Given the description of an element on the screen output the (x, y) to click on. 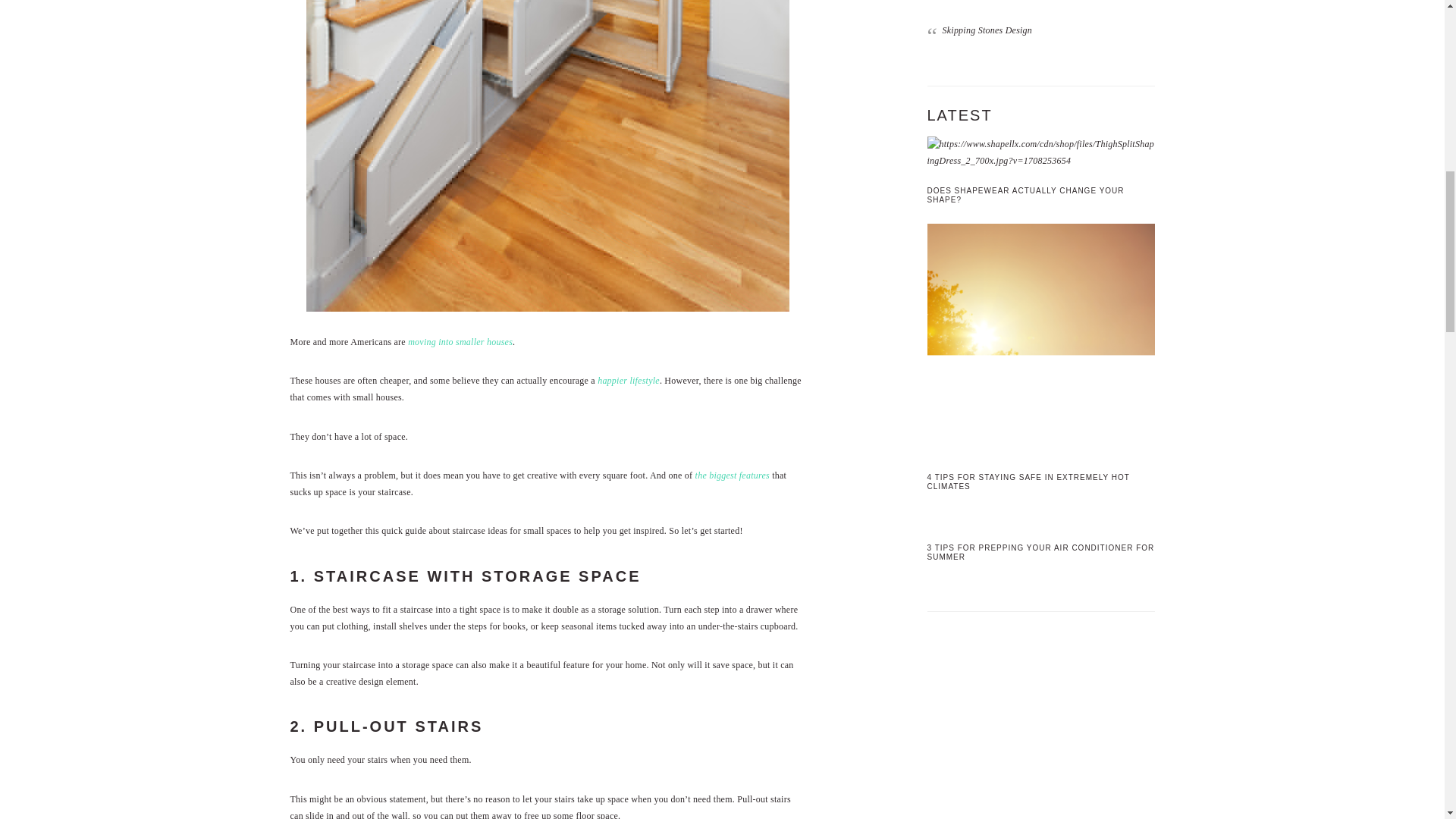
3 TIPS FOR PREPPING YOUR AIR CONDITIONER FOR SUMMER (1040, 552)
the biggest features (732, 475)
happier lifestyle (627, 380)
moving into smaller houses (459, 341)
Does Shapewear Actually Change Your Shape? (1040, 152)
DOES SHAPEWEAR ACTUALLY CHANGE YOUR SHAPE? (1025, 194)
Skipping Stones Design (987, 30)
4 TIPS FOR STAYING SAFE IN EXTREMELY HOT CLIMATES (1027, 481)
3 Tips For Prepping Your Air Conditioner For Summer (1040, 518)
4 Tips For Staying Safe in Extremely Hot Climates (1040, 339)
